Given the description of an element on the screen output the (x, y) to click on. 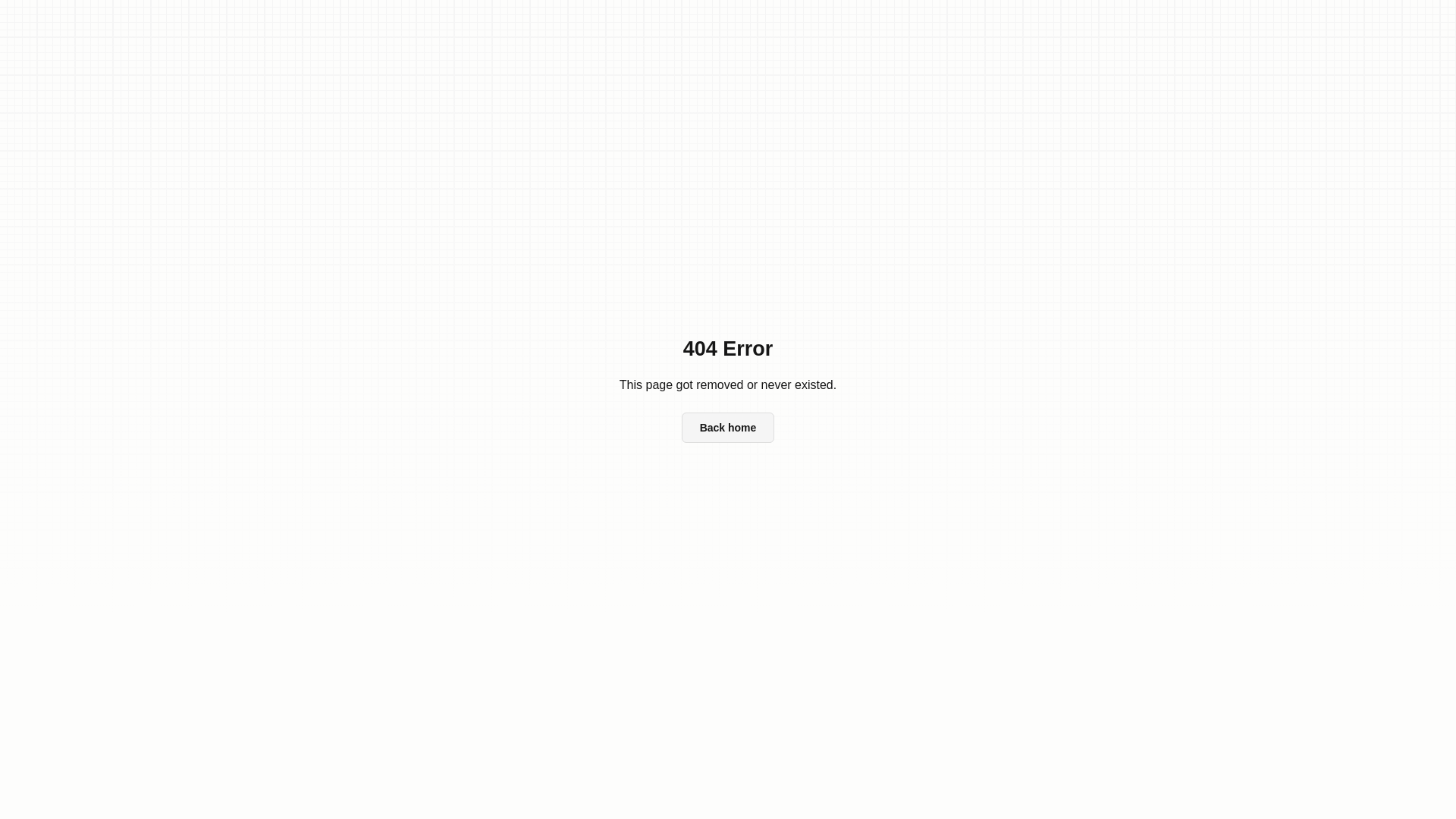
Back home (727, 427)
